Given the description of an element on the screen output the (x, y) to click on. 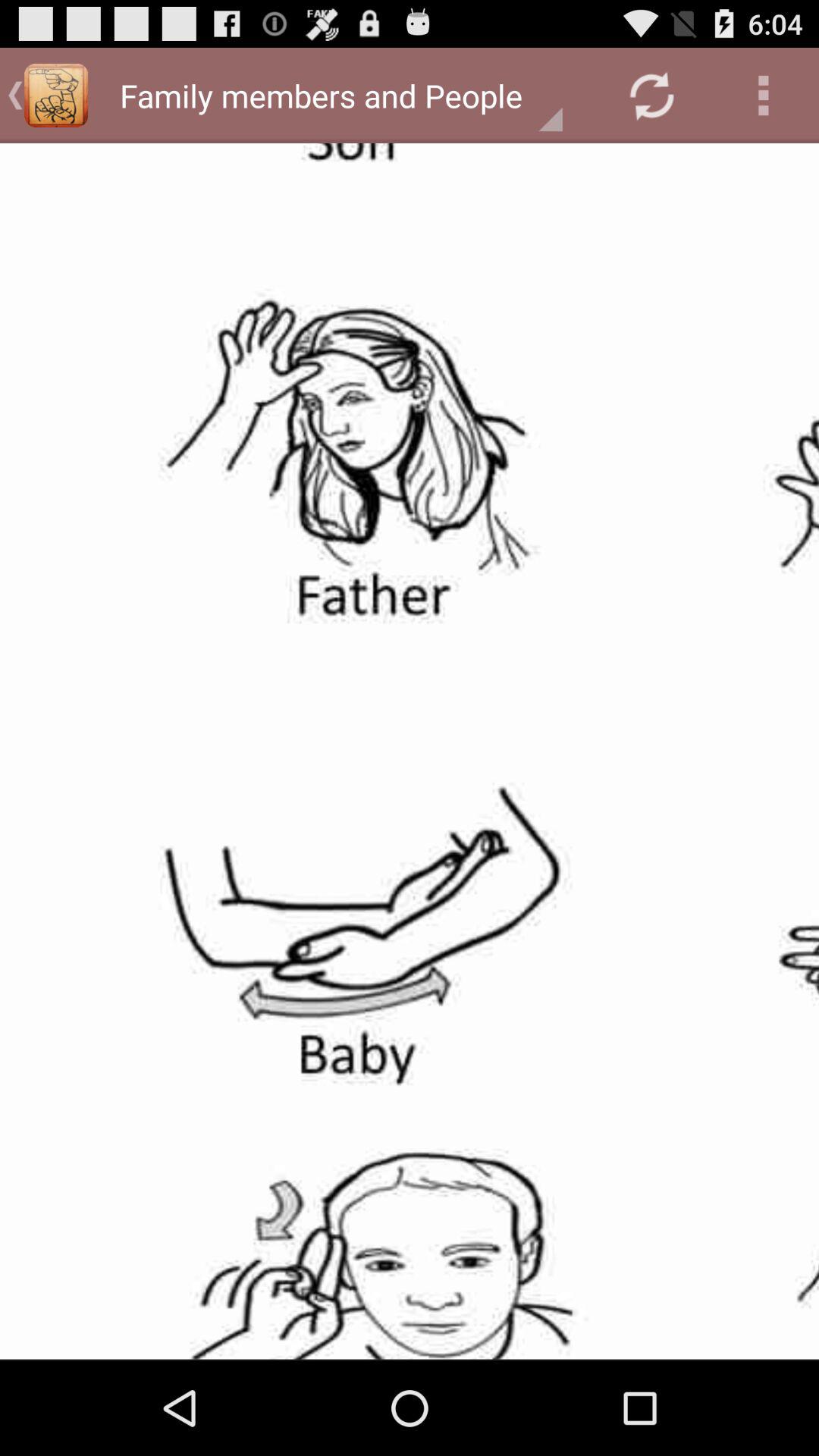
open the page (409, 751)
